Given the description of an element on the screen output the (x, y) to click on. 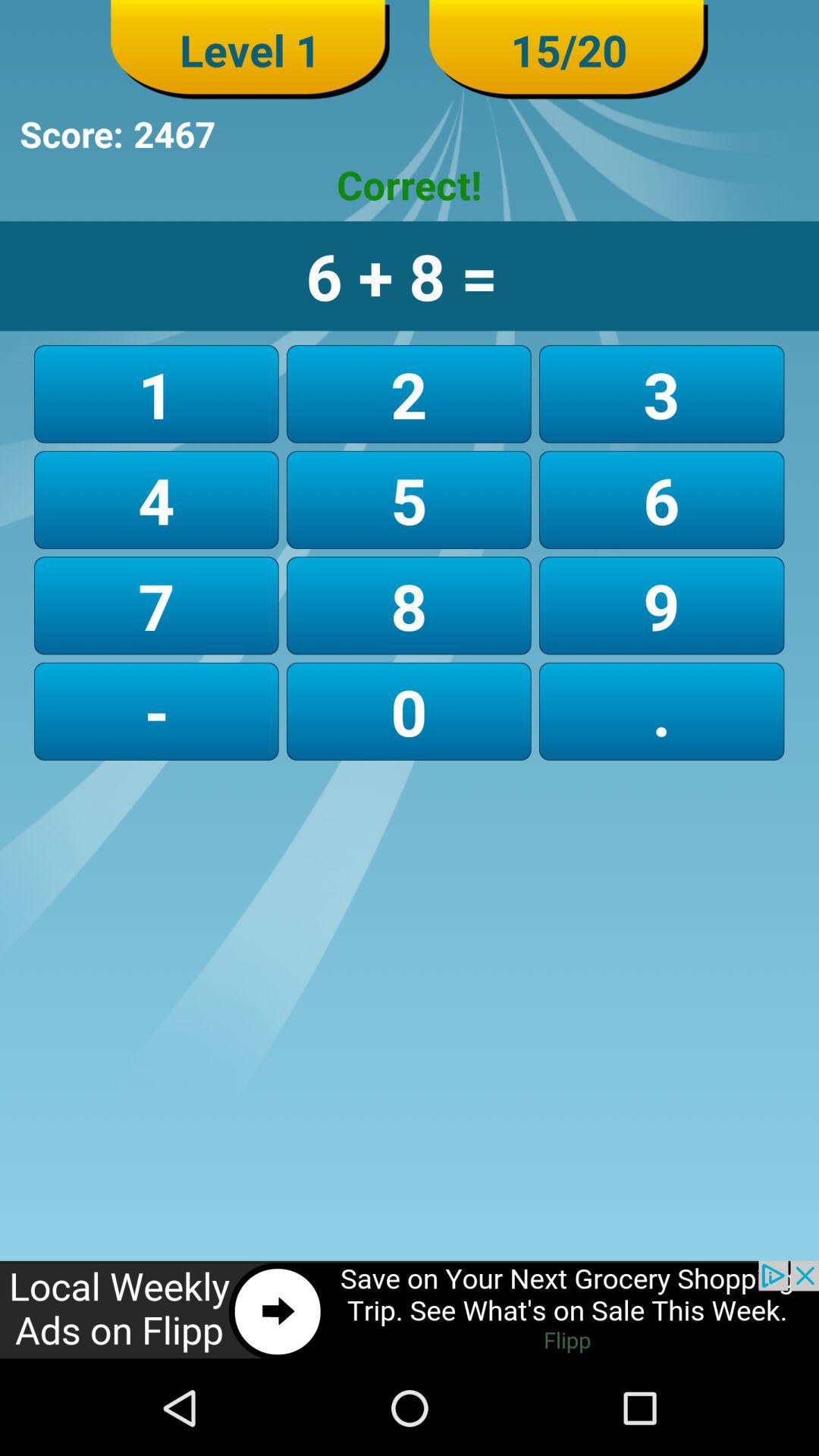
go to local weekly advertisements on flipp option (409, 1310)
